Given the description of an element on the screen output the (x, y) to click on. 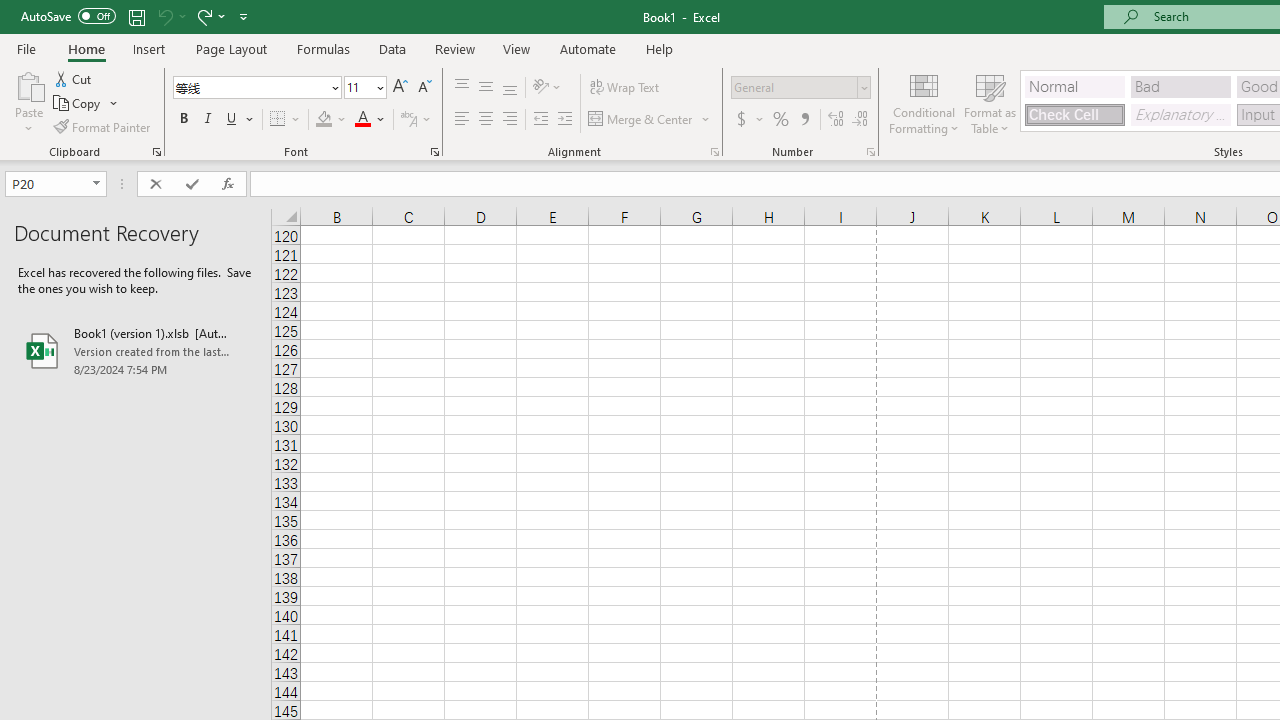
Format Cell Number (870, 151)
Wrap Text (624, 87)
Format as Table (990, 102)
Show Phonetic Field (416, 119)
Center (485, 119)
Office Clipboard... (156, 151)
Font Size (358, 87)
Underline (239, 119)
Show Phonetic Field (408, 119)
Underline (232, 119)
